Given the description of an element on the screen output the (x, y) to click on. 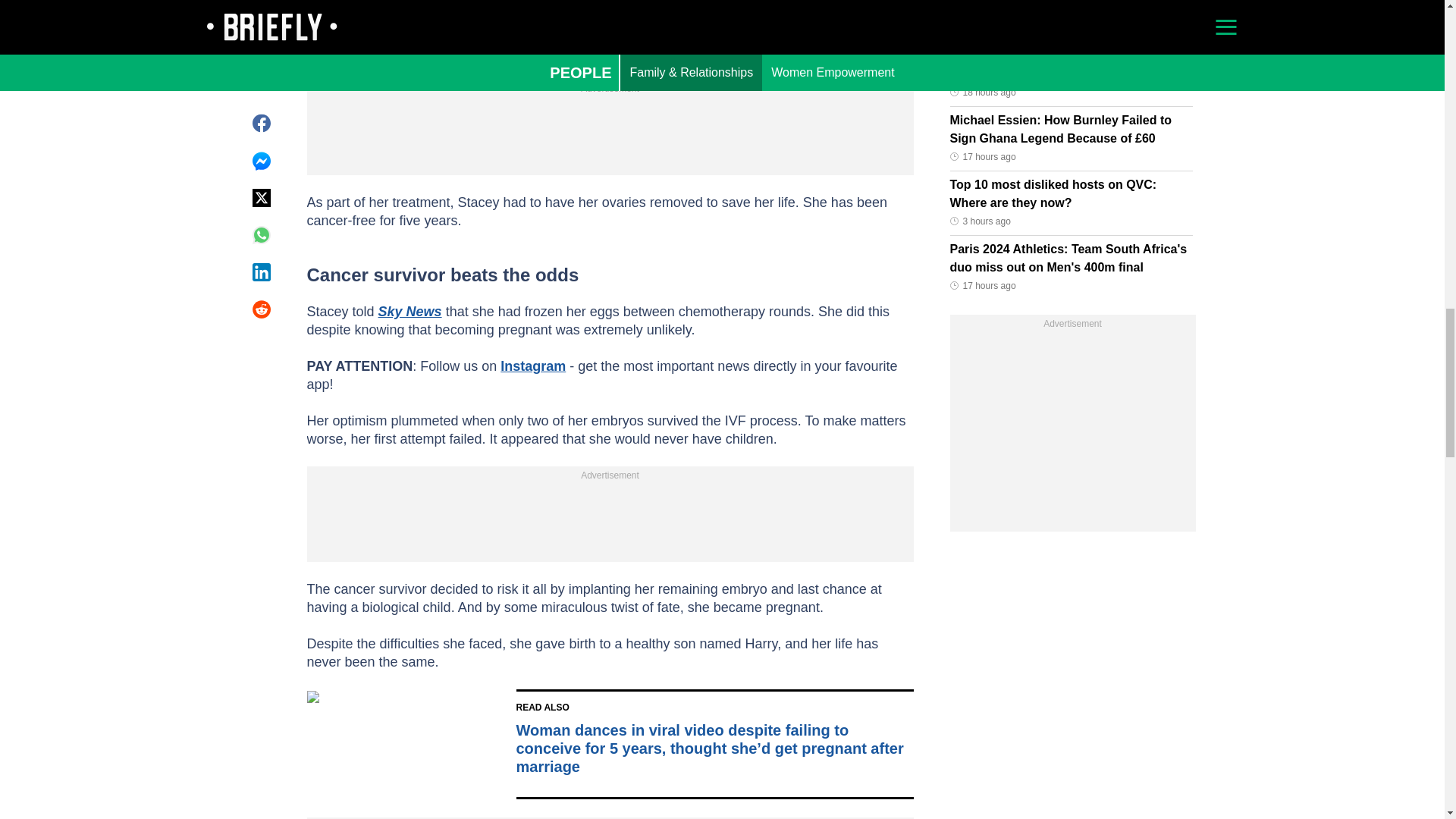
Briefly News Instagram (533, 365)
